Given the description of an element on the screen output the (x, y) to click on. 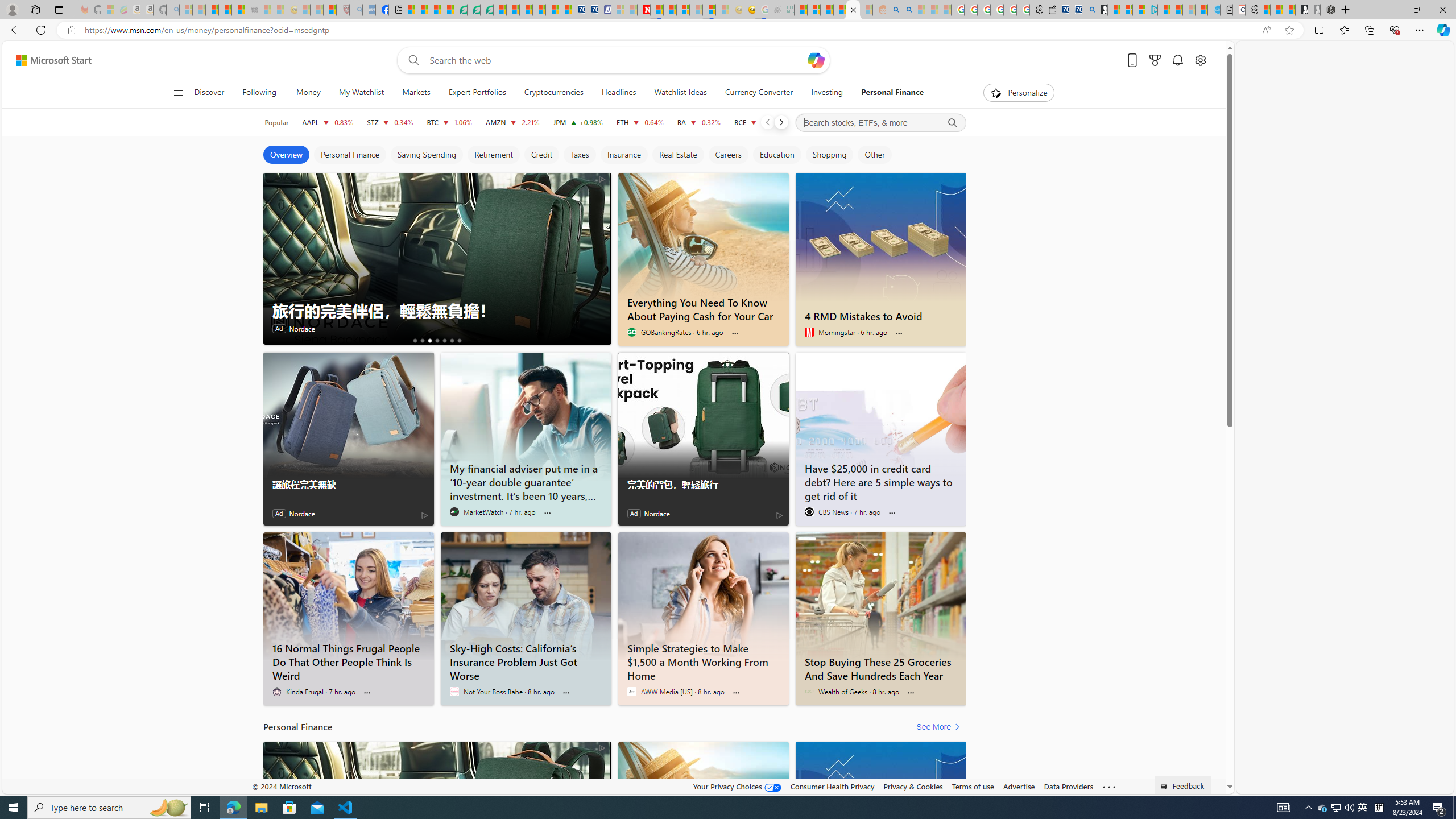
Careers (727, 154)
Microsoft Word - consumer-privacy address update 2.2021 (486, 9)
JPM JPMORGAN CHASE & CO. increase 216.71 +2.11 +0.98% (578, 122)
4 RMD Mistakes to Avoid - Morningstar (879, 314)
